Given the description of an element on the screen output the (x, y) to click on. 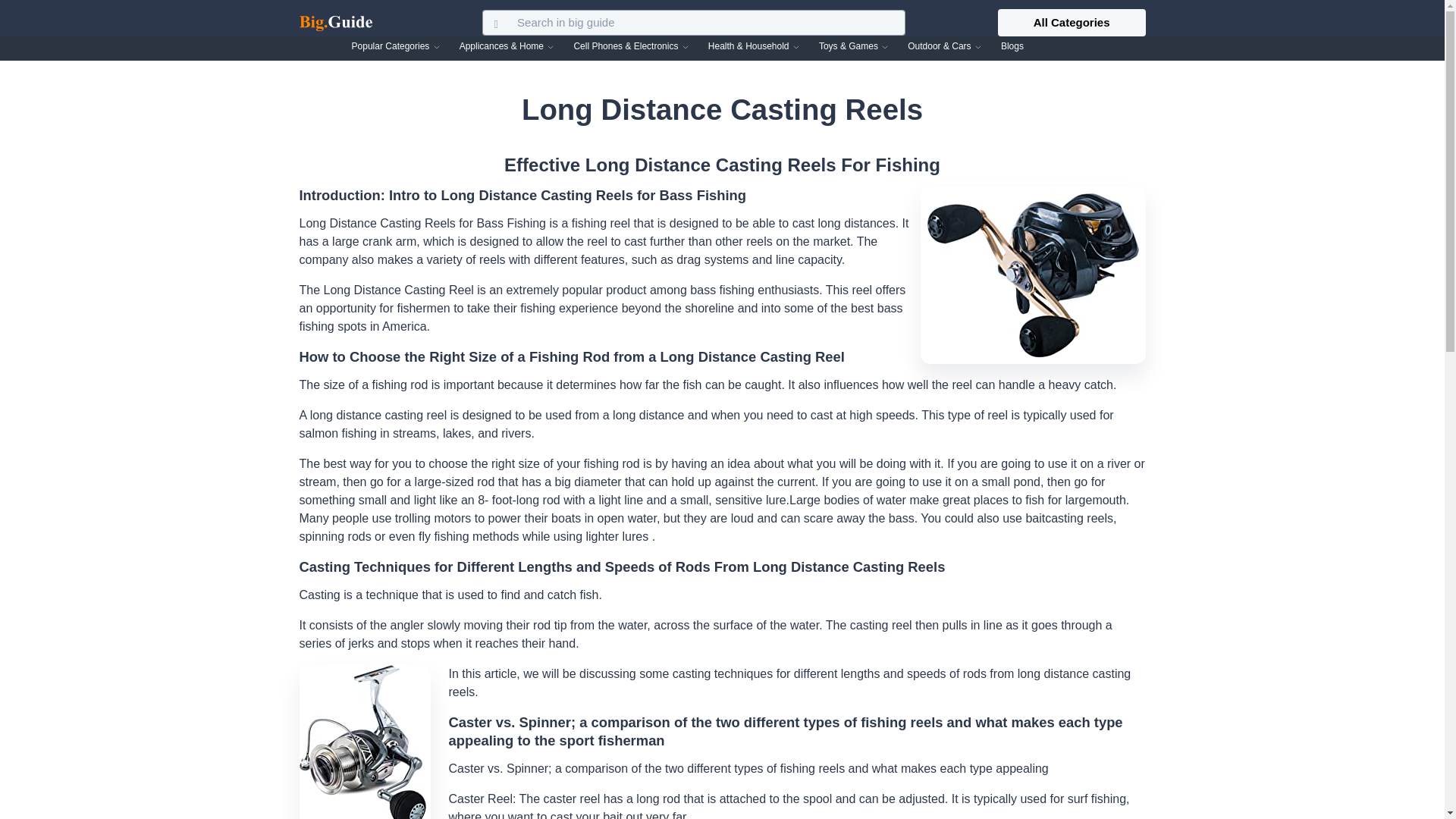
All Categories (1071, 22)
